Given the description of an element on the screen output the (x, y) to click on. 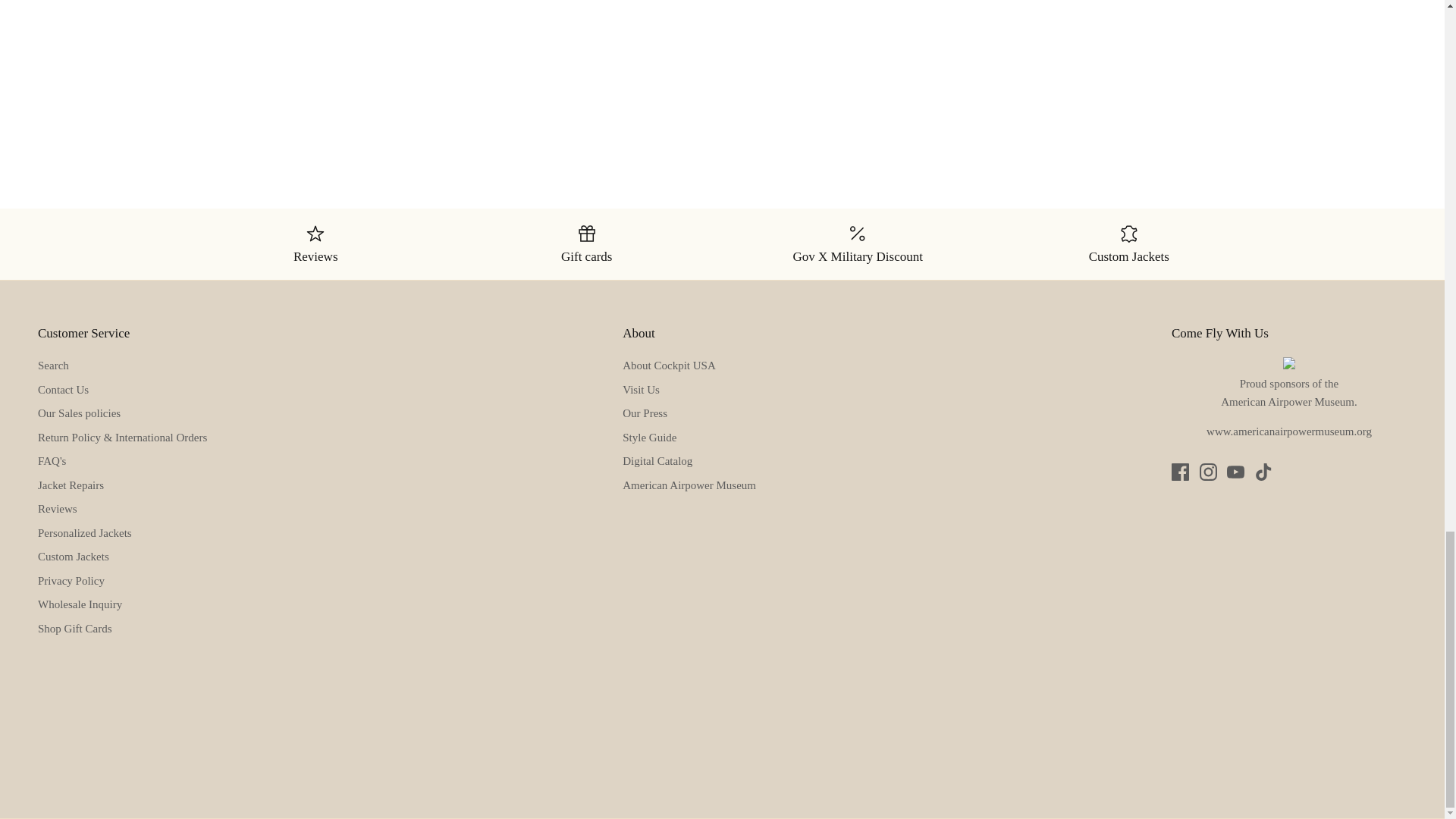
Instagram (1208, 471)
Youtube (1235, 471)
Facebook (1180, 471)
